Given the description of an element on the screen output the (x, y) to click on. 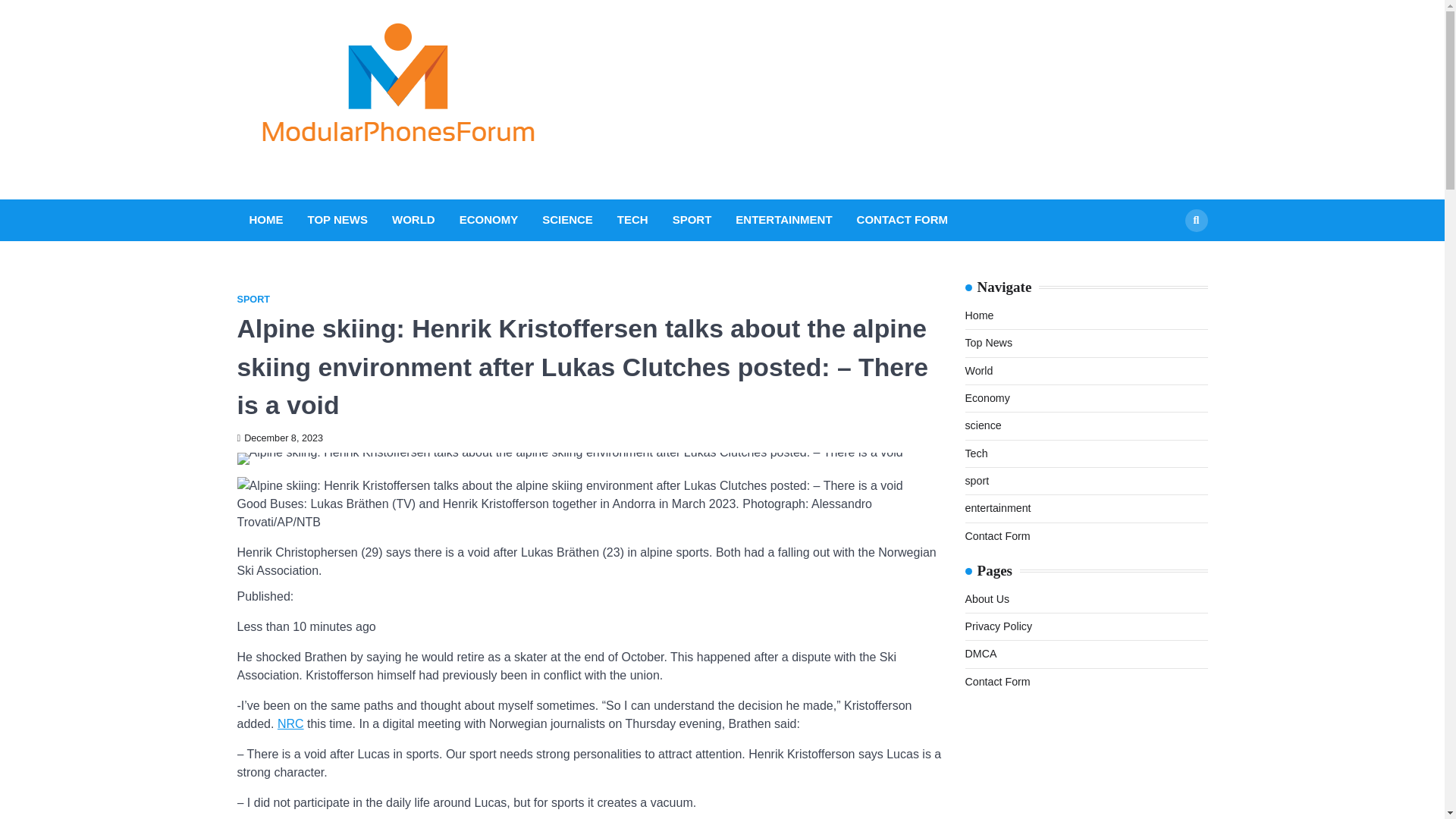
HOME (265, 220)
Search (1168, 256)
science (982, 425)
Economy (986, 398)
SPORT (252, 299)
World (977, 370)
Search (1196, 220)
TECH (632, 220)
SPORT (691, 220)
SCIENCE (566, 220)
ENTERTAINMENT (783, 220)
WORLD (413, 220)
Tech (975, 453)
NRC (291, 723)
ECONOMY (488, 220)
